Given the description of an element on the screen output the (x, y) to click on. 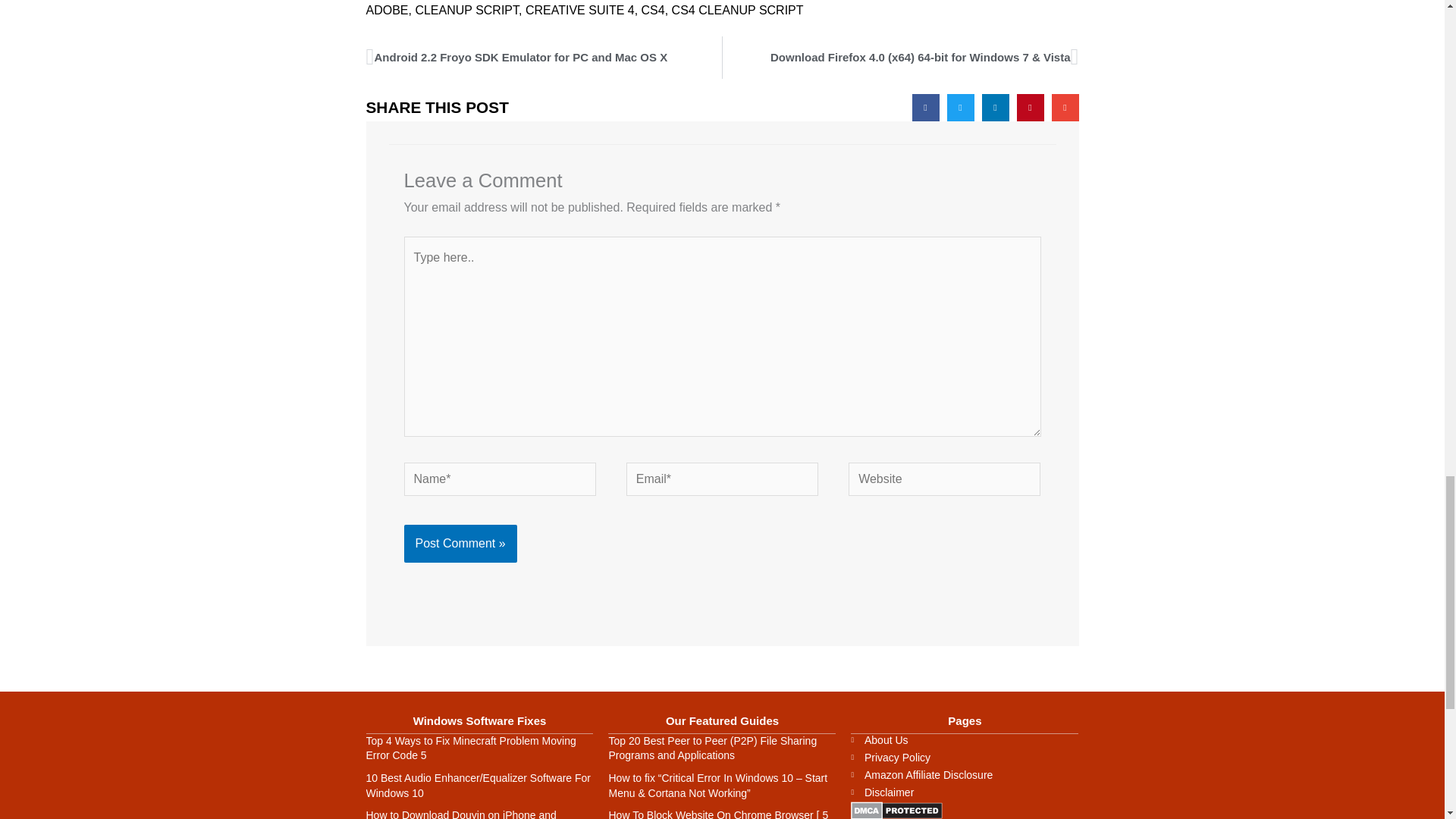
Top 4 Ways to Fix Minecraft Problem Moving Error Code 5 (470, 748)
CREATIVE SUITE 4 (579, 10)
How to Download Douyin on iPhone and Android (460, 814)
CLEANUP SCRIPT (466, 10)
About Us (964, 739)
DMCA.com Protection Status (896, 809)
CS4 CLEANUP SCRIPT (737, 10)
CS4 (653, 10)
ADOBE (543, 57)
